Given the description of an element on the screen output the (x, y) to click on. 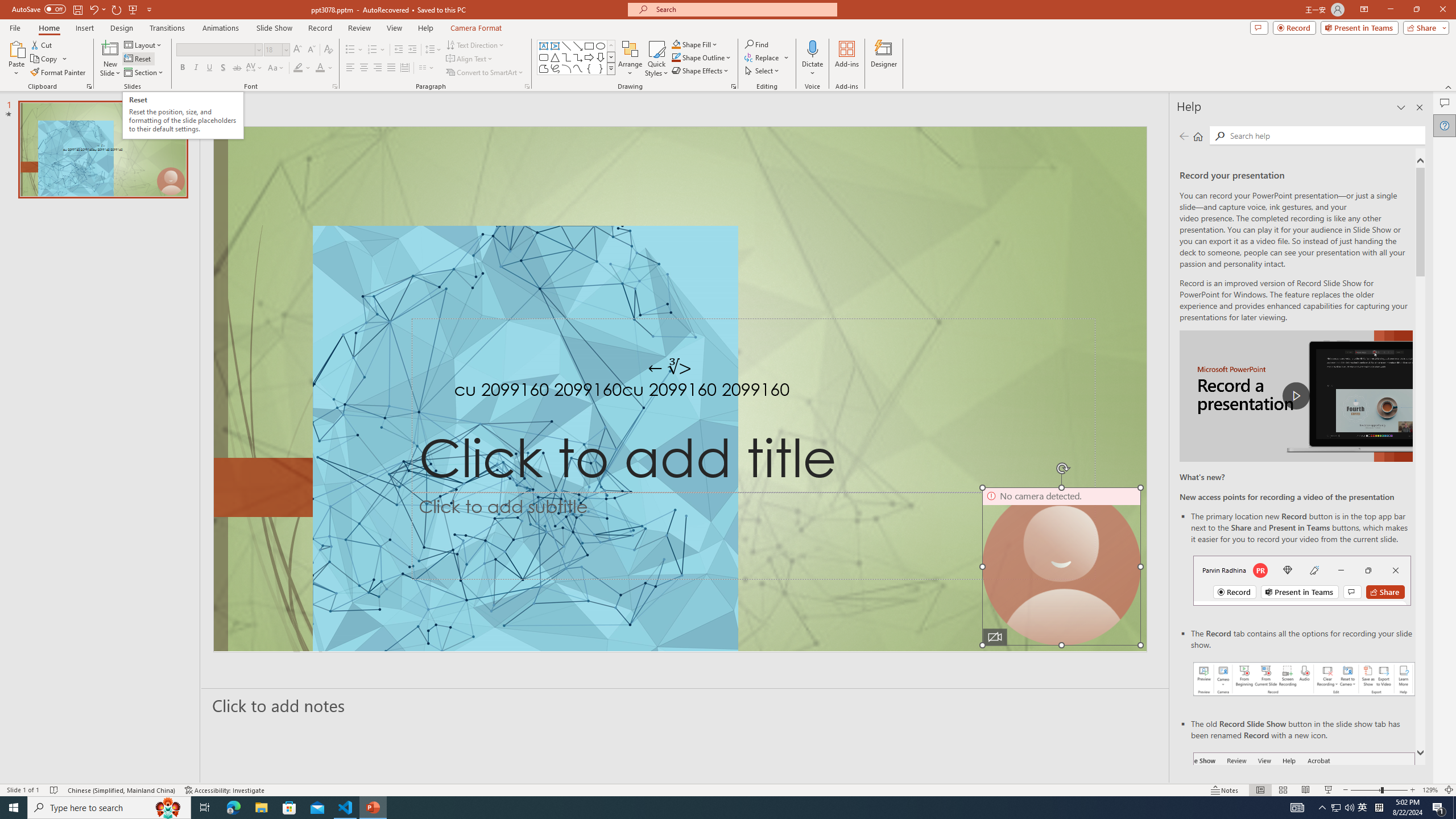
Align Right (377, 67)
Change Case (276, 67)
Connector: Elbow (566, 57)
Designer (883, 58)
Text Box (543, 45)
Align Text (470, 58)
Class: NetUIImage (610, 68)
Layout (143, 44)
